Given the description of an element on the screen output the (x, y) to click on. 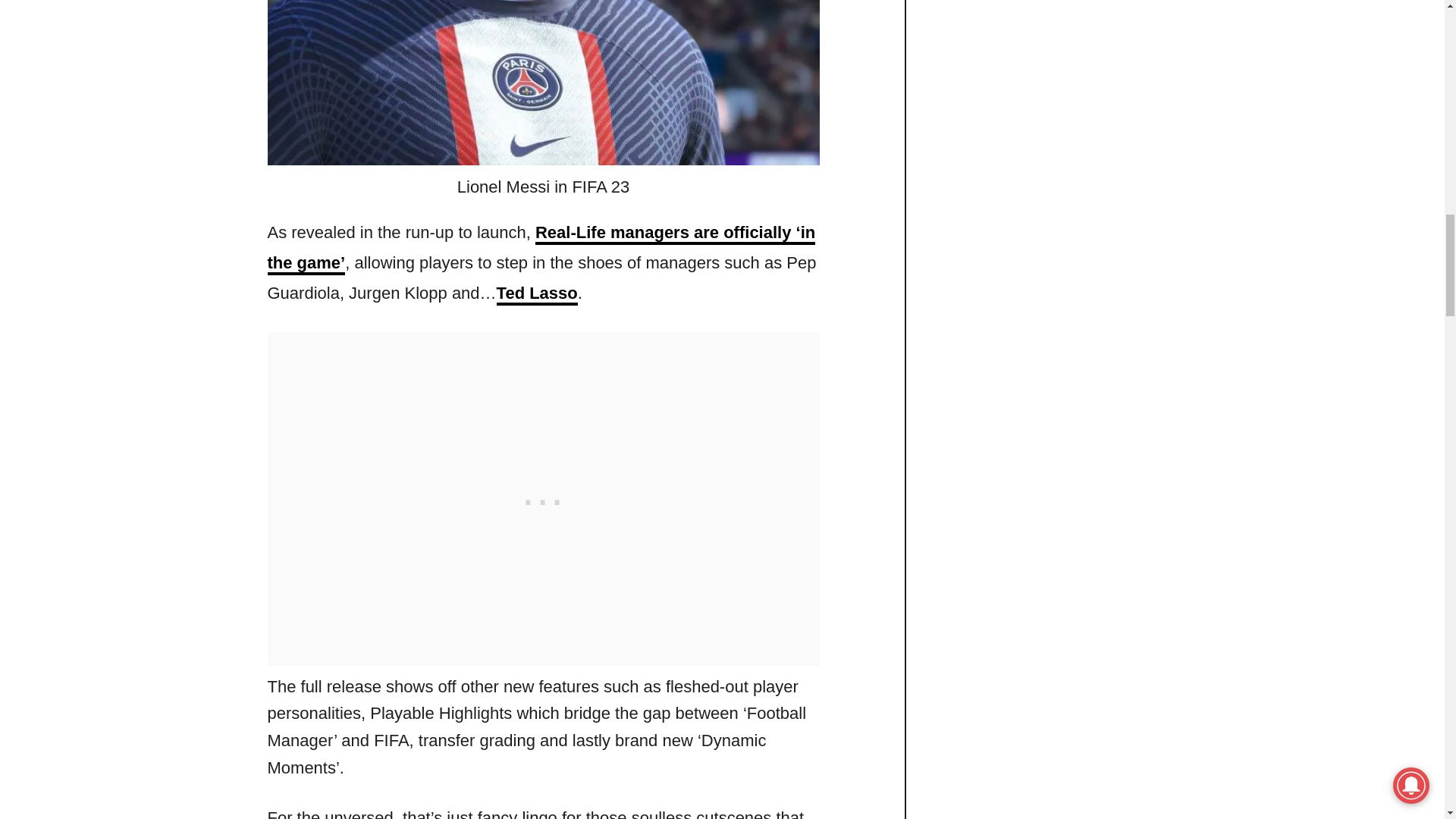
Ted Lasso (537, 294)
